Given the description of an element on the screen output the (x, y) to click on. 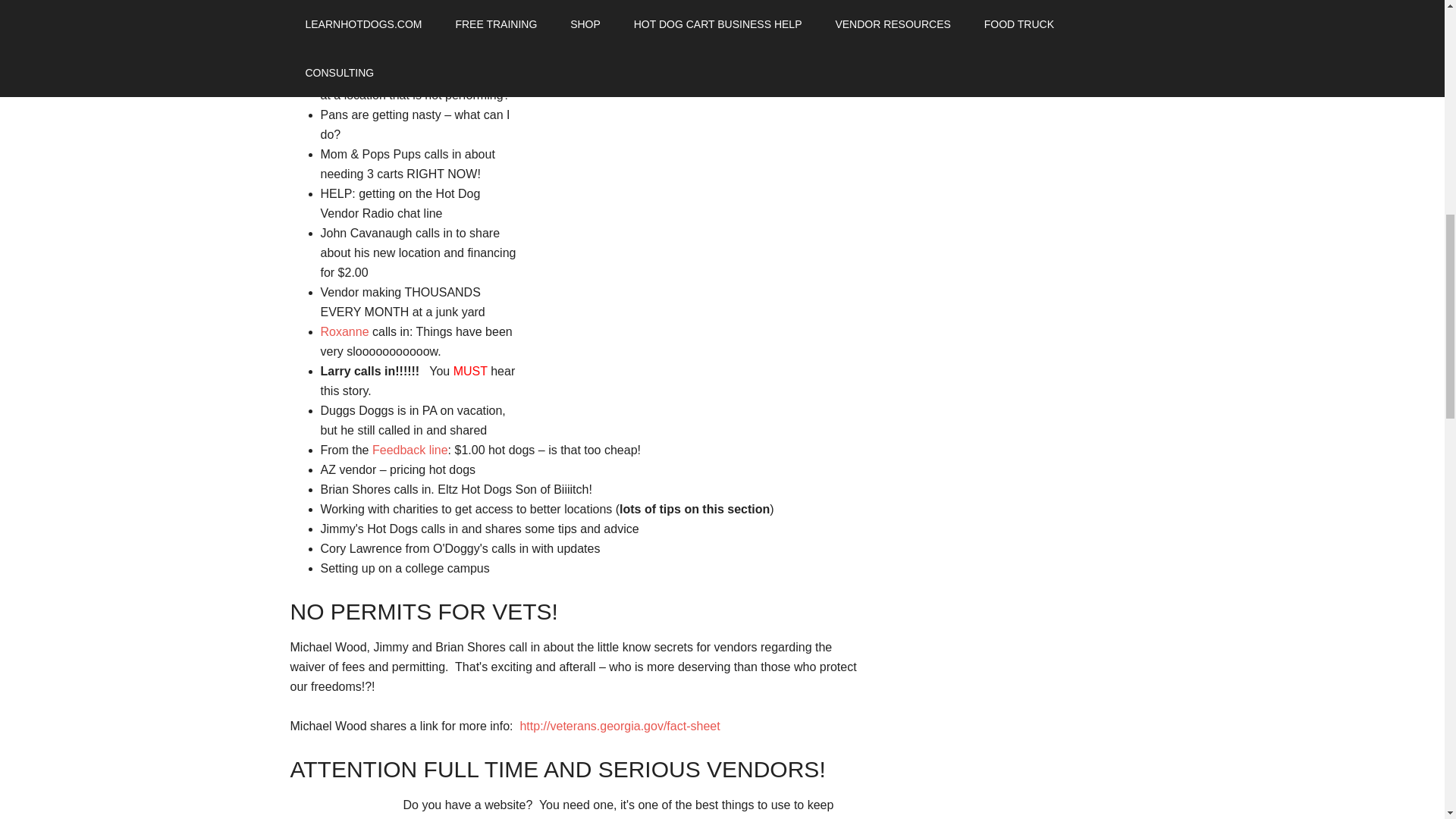
Feedback line (410, 449)
Show some love for Stellasbells (344, 331)
Roxanne (344, 331)
Leave Feedback or Questions for the radio show. (410, 449)
